Given the description of an element on the screen output the (x, y) to click on. 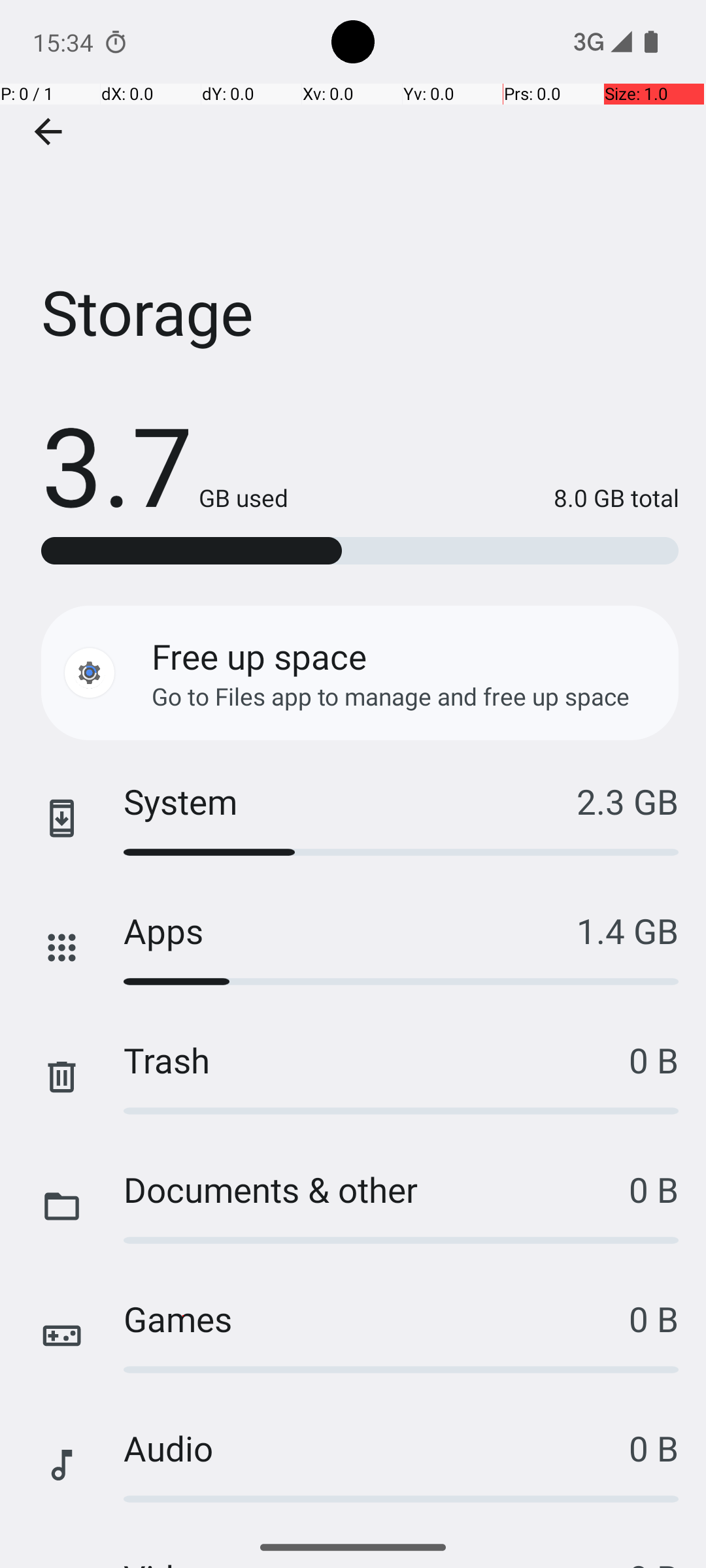
3.7 GB used Element type: android.widget.TextView (164, 463)
